Given the description of an element on the screen output the (x, y) to click on. 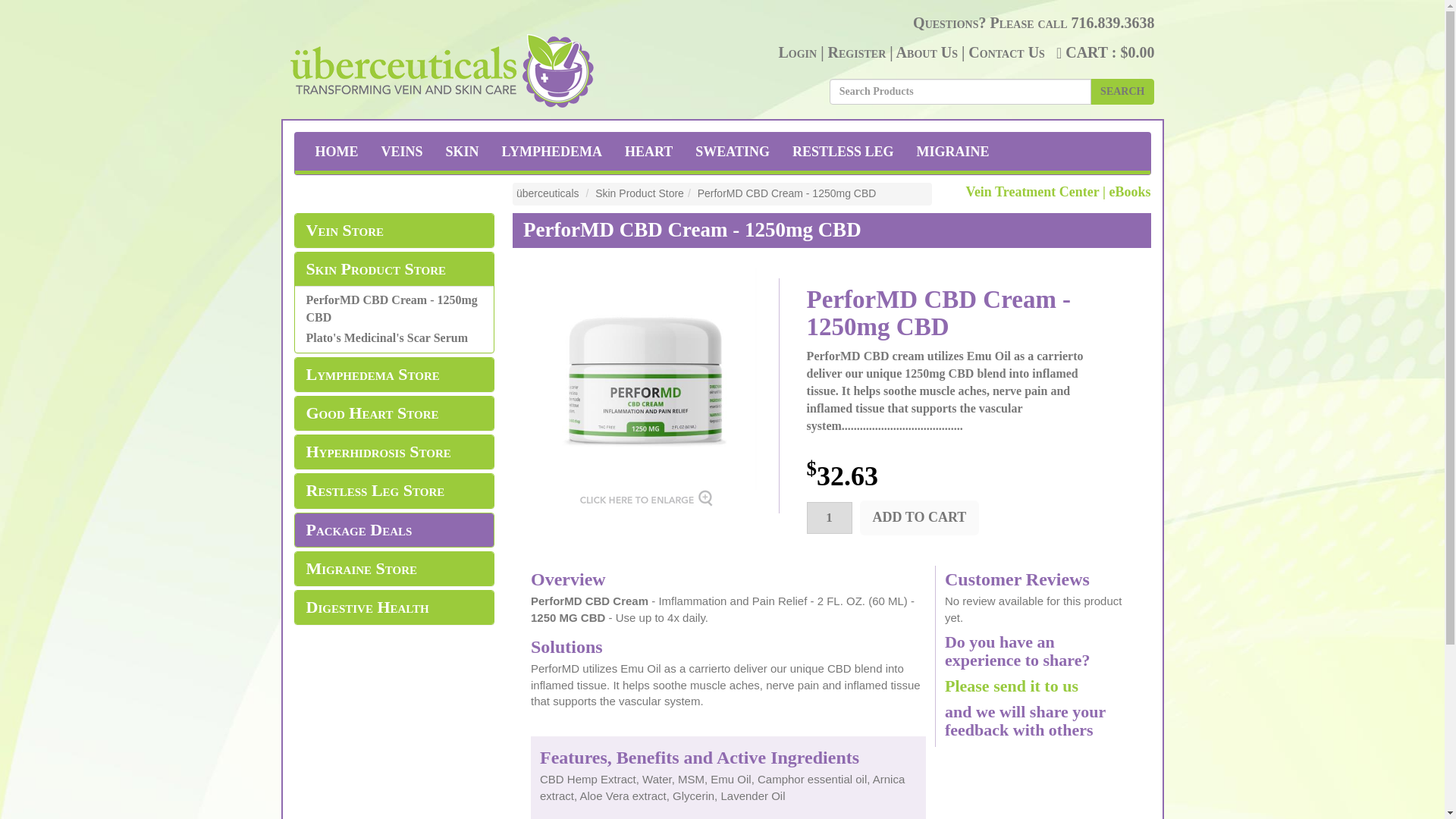
Login (796, 52)
Package Deals (394, 529)
SKIN (461, 151)
LYMPHEDEMA (551, 151)
Lymphedema Store (394, 374)
SWEATING (732, 151)
1 (828, 517)
About Us (927, 52)
Register (857, 52)
HEART (648, 151)
HOME (335, 151)
eBooks (1129, 191)
Plato's Medicinal's Scar Serum (386, 337)
Skin Product Store (394, 269)
PerforMD CBD Cream - 1250mg CBD (645, 437)
